Given the description of an element on the screen output the (x, y) to click on. 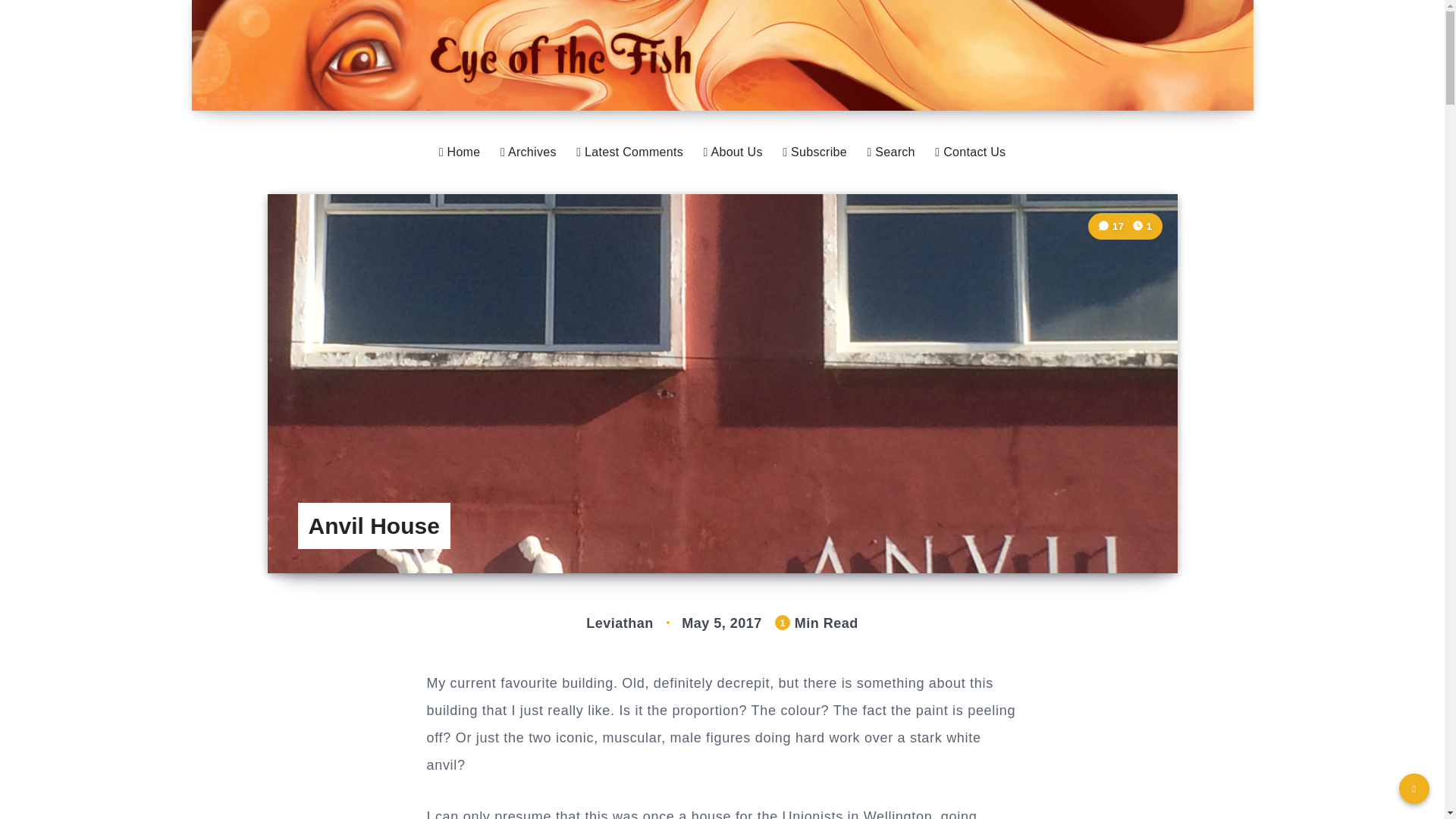
Leviathan (622, 622)
17 Comments (1111, 225)
Author: Leviathan (622, 622)
17 (1111, 225)
1 Min Read (1142, 226)
